Given the description of an element on the screen output the (x, y) to click on. 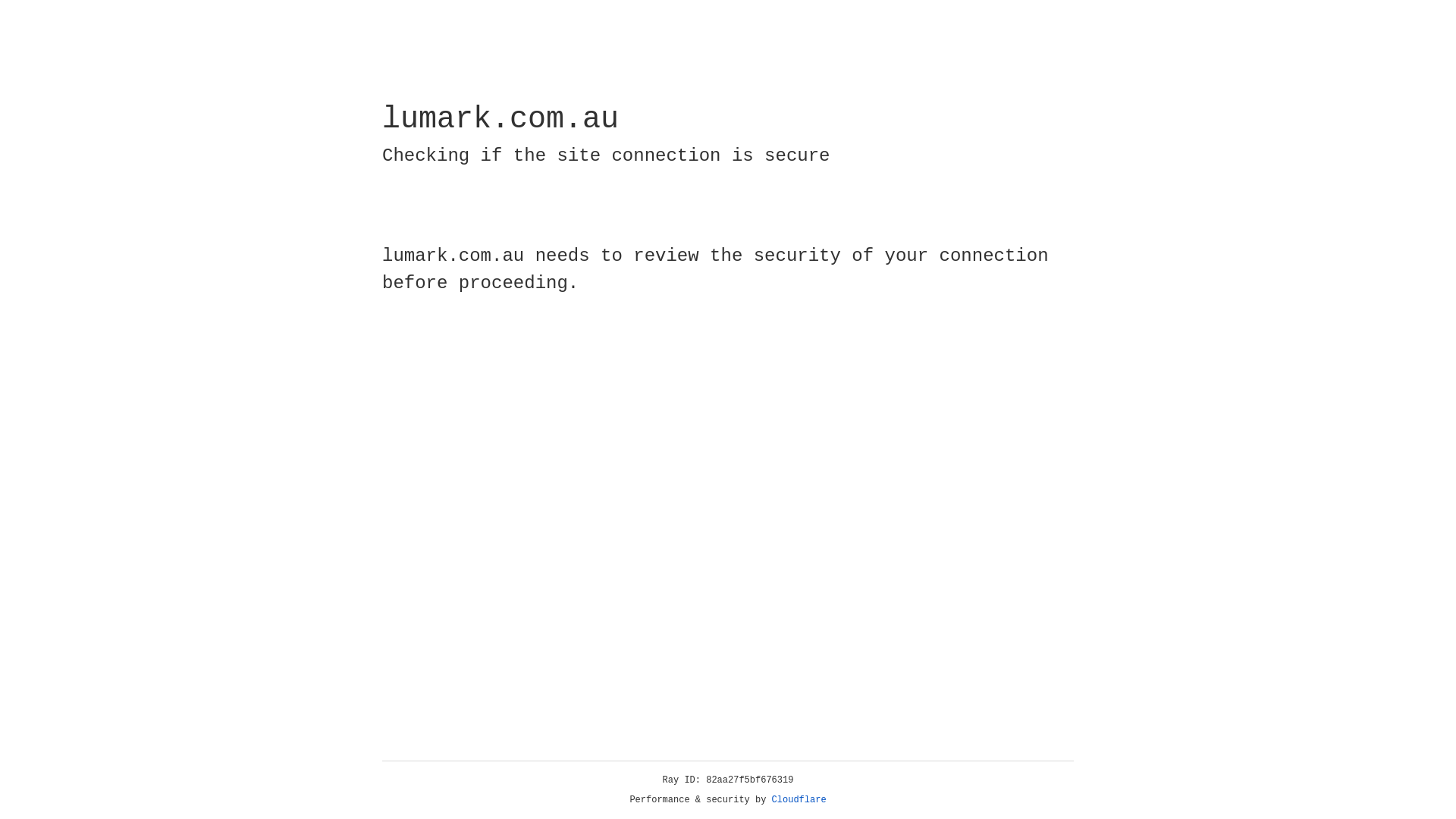
Cloudflare Element type: text (798, 799)
